Given the description of an element on the screen output the (x, y) to click on. 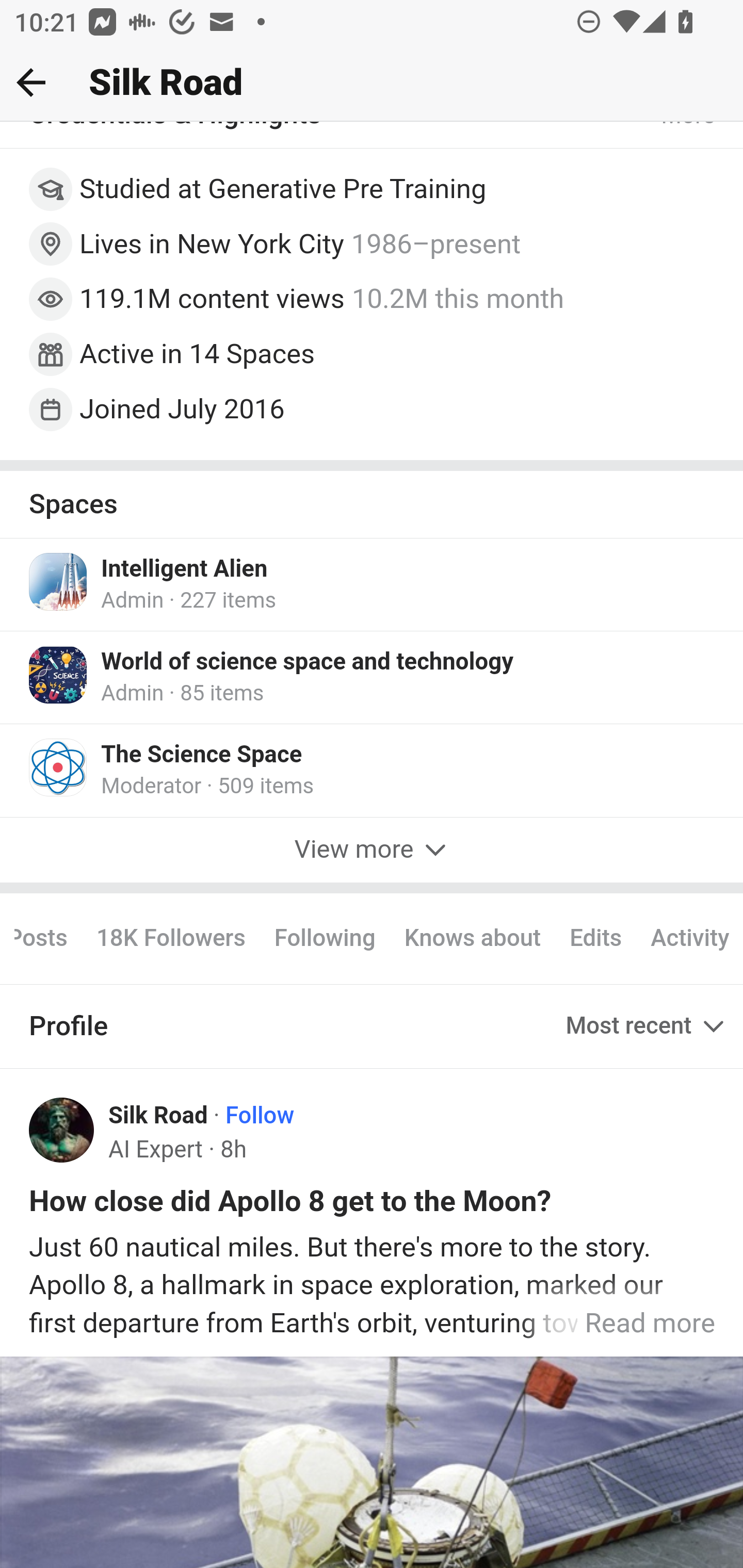
Back Silk Road (371, 82)
Back (30, 82)
Icon for Intelligent Alien (58, 583)
Intelligent Alien (184, 571)
Icon for World of science space and technology (58, 676)
World of science space and technology (307, 664)
Icon for The Science Space (58, 768)
The Science Space (202, 756)
View more (371, 851)
18K Followers (170, 939)
Following (324, 939)
Knows about (471, 939)
Edits (595, 939)
Activity (689, 939)
Most recent (647, 1027)
Profile photo for Silk Road (61, 1131)
Silk Road (158, 1116)
Follow (259, 1116)
